Given the description of an element on the screen output the (x, y) to click on. 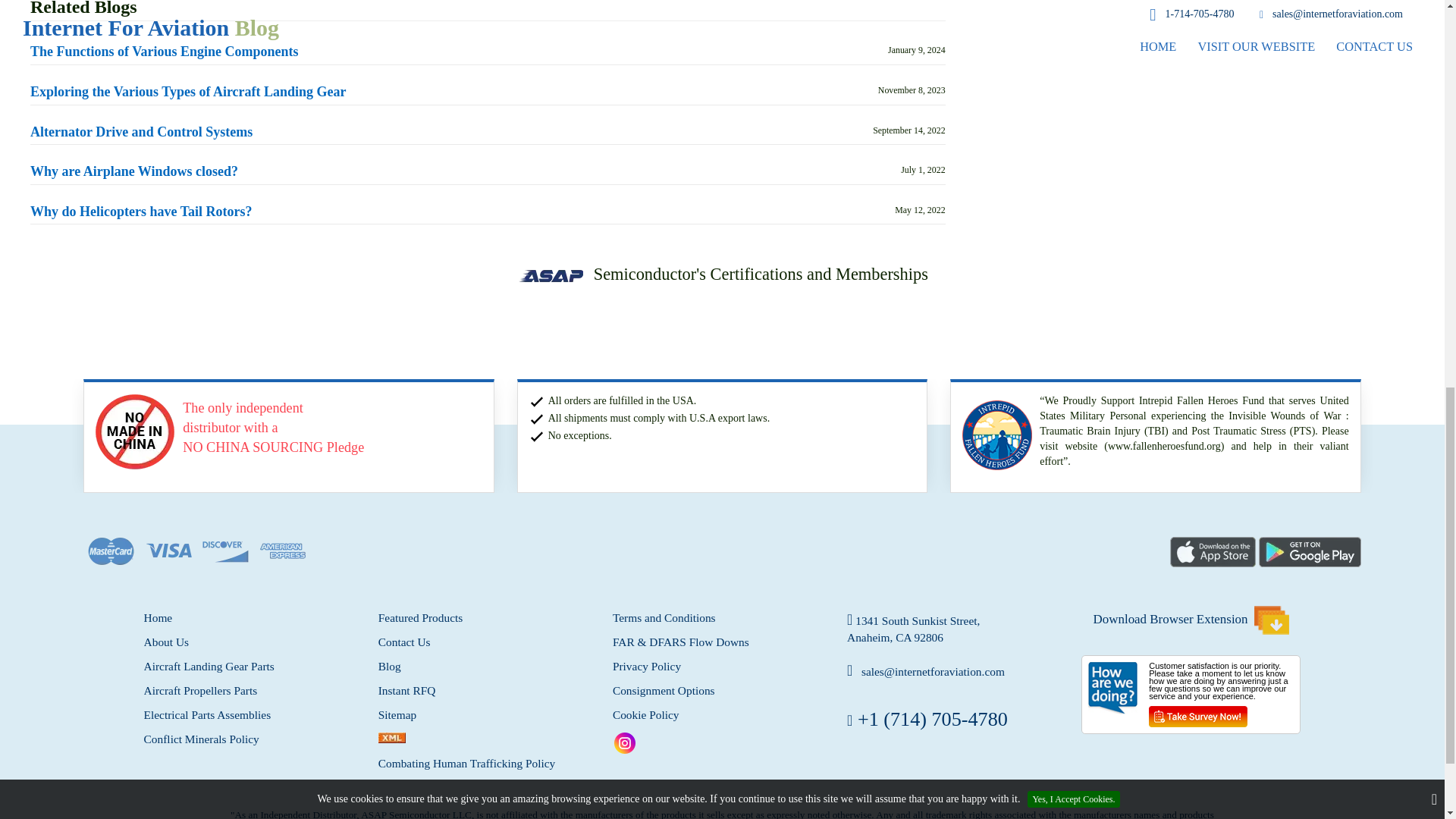
Alternator Drive and Control Systems (140, 132)
Why do Helicopters have Tail Rotors? (140, 211)
Why are Airplane Windows closed? (134, 171)
Exploring the Various Types of Aircraft Landing Gear (188, 92)
The Functions of Various Engine Components (164, 52)
